Given the description of an element on the screen output the (x, y) to click on. 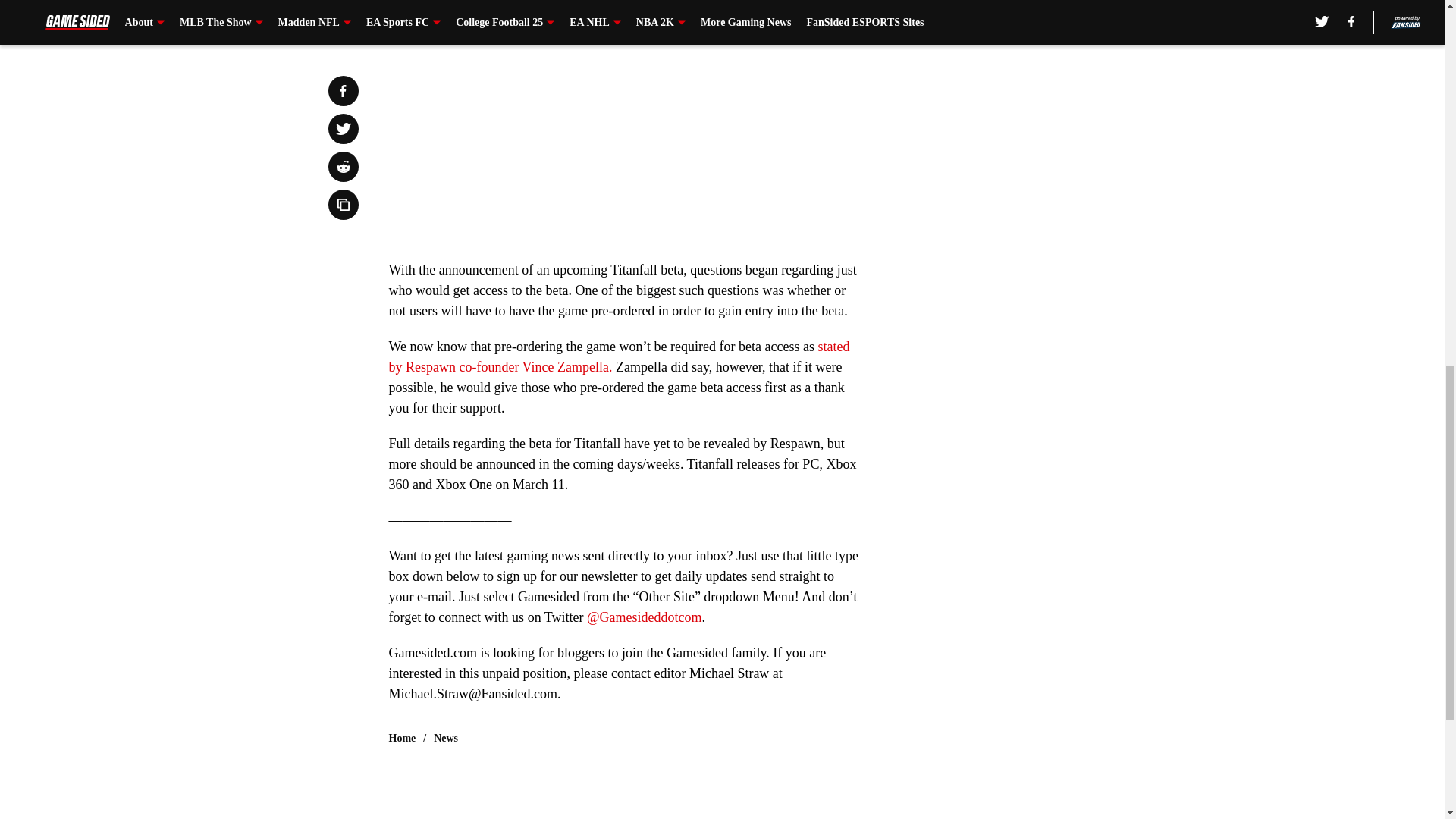
stated by Respawn co-founder Vince Zampella. (618, 356)
Home (401, 738)
News (445, 738)
